Given the description of an element on the screen output the (x, y) to click on. 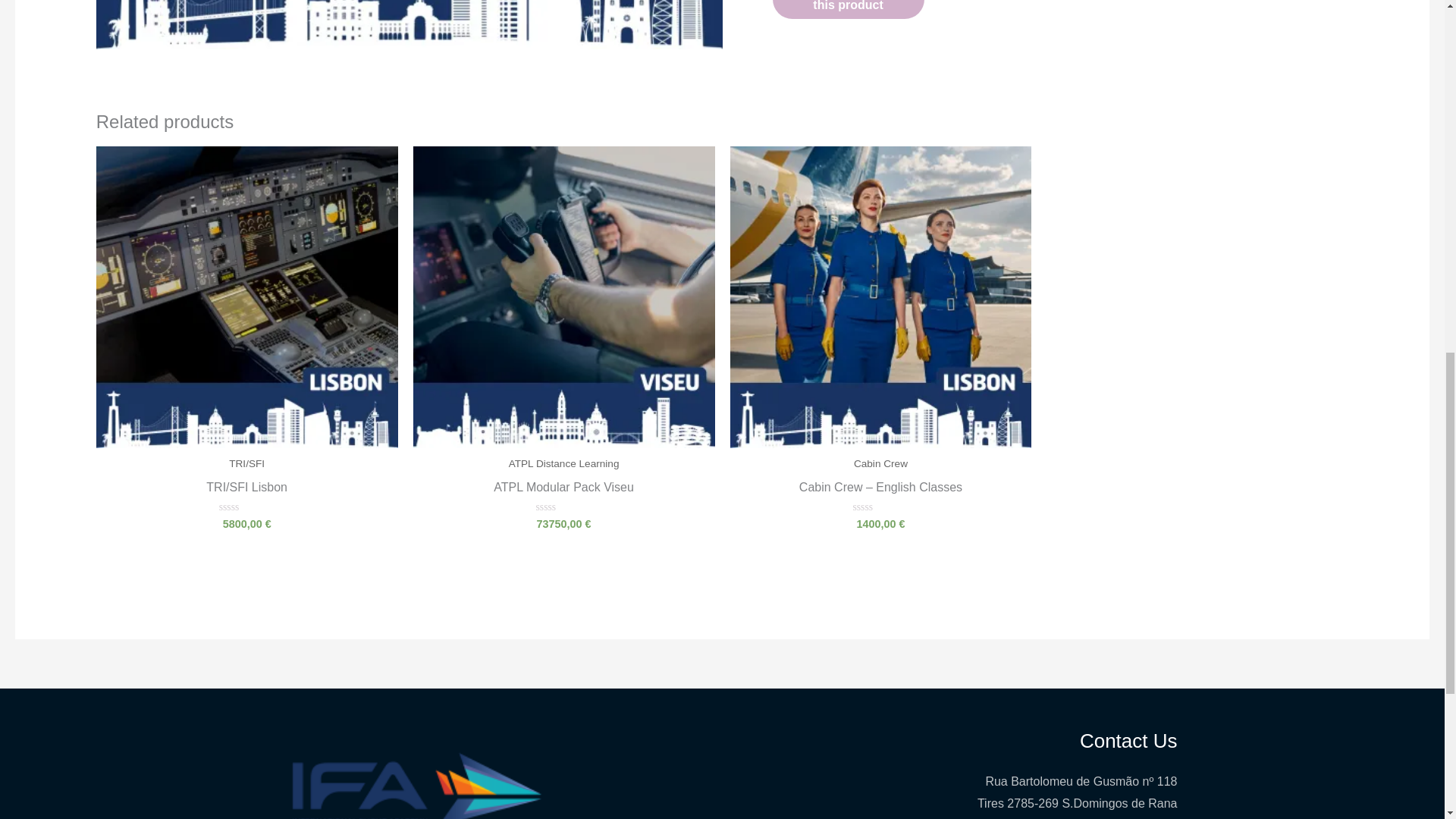
PayPal (1061, 59)
Make an enquiry for this product (848, 9)
atpl distance learning lisbon (409, 24)
